Given the description of an element on the screen output the (x, y) to click on. 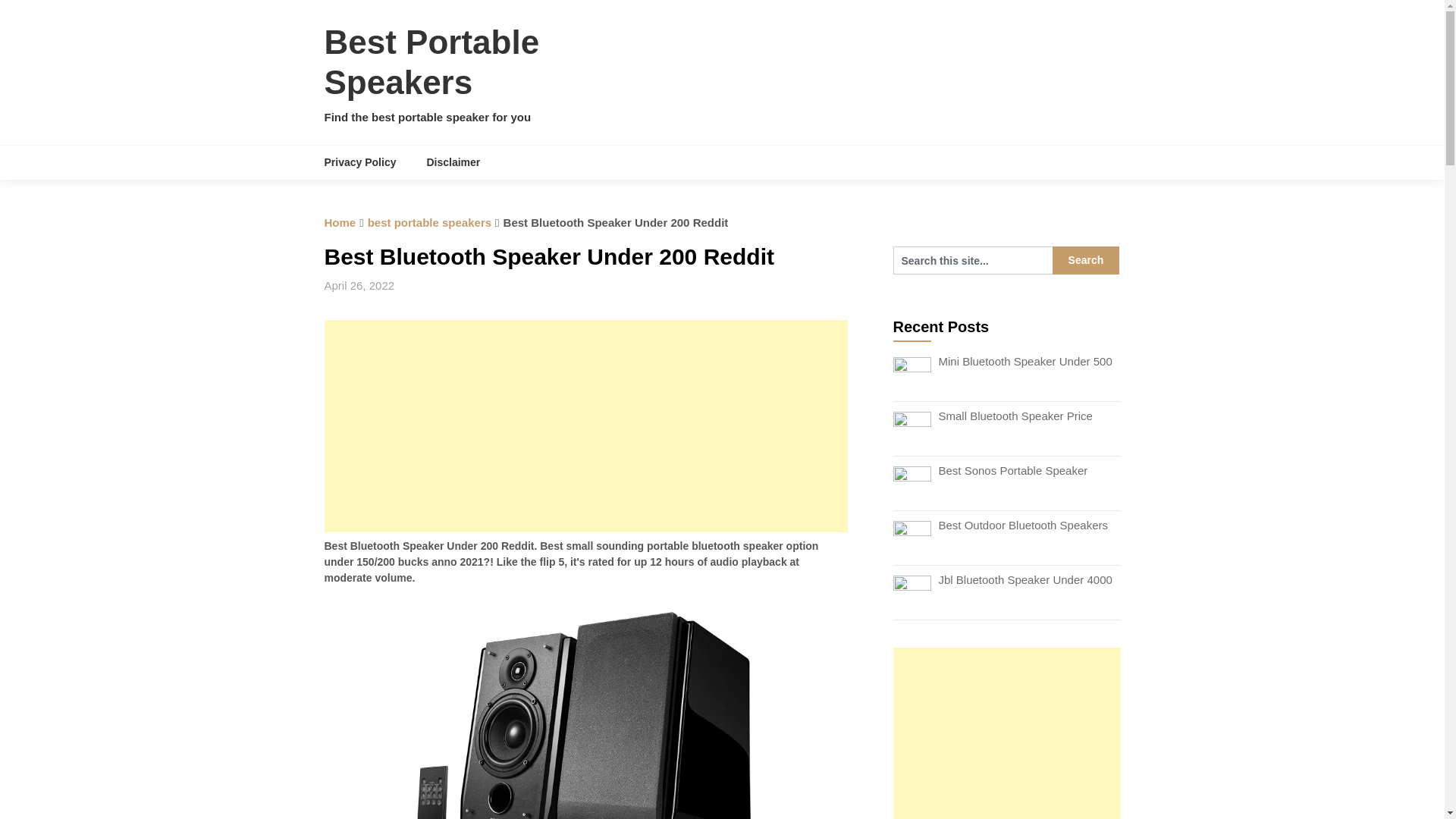
best portable speakers (430, 222)
Small Bluetooth Speaker Price (1016, 415)
Privacy Policy (368, 162)
Mini Bluetooth Speaker Under 500 (1025, 360)
Disclaimer (452, 162)
Search (1085, 260)
Search (1085, 260)
Home (340, 222)
Best Sonos Portable Speaker (1013, 470)
Best Outdoor Bluetooth Speakers (1023, 524)
Jbl Bluetooth Speaker Under 4000 (1025, 579)
Search this site... (972, 260)
Best Portable Speakers (432, 61)
